Given the description of an element on the screen output the (x, y) to click on. 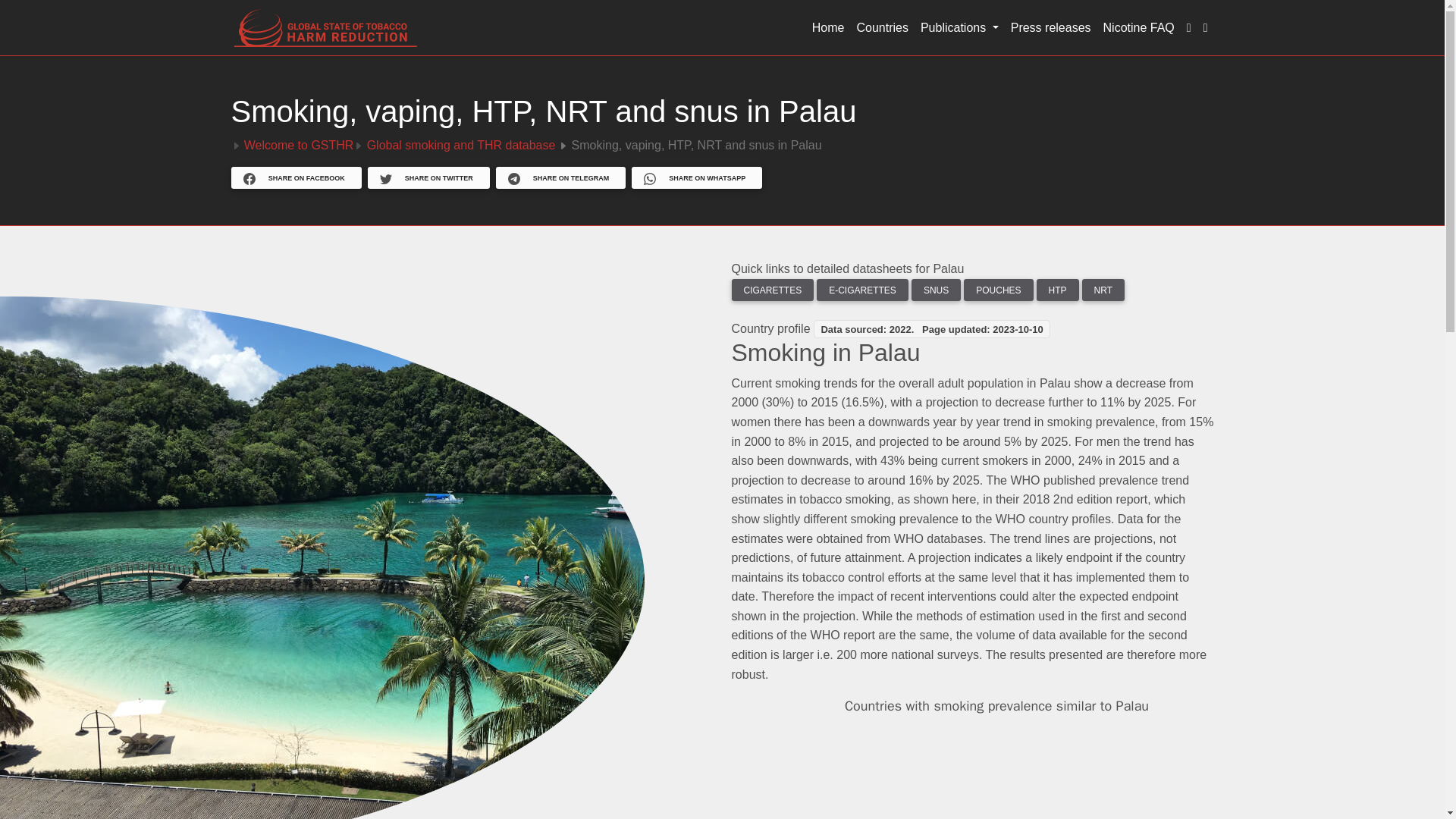
CIGARETTES (771, 290)
Share on WhatsApp (696, 178)
Press releases (1050, 28)
Publications (959, 28)
Share on Facebook (295, 178)
SHARE ON TWITTER (428, 178)
HTP (1057, 290)
Global smoking and THR database (461, 144)
POUCHES (997, 290)
Nicotine FAQ (1138, 28)
